Given the description of an element on the screen output the (x, y) to click on. 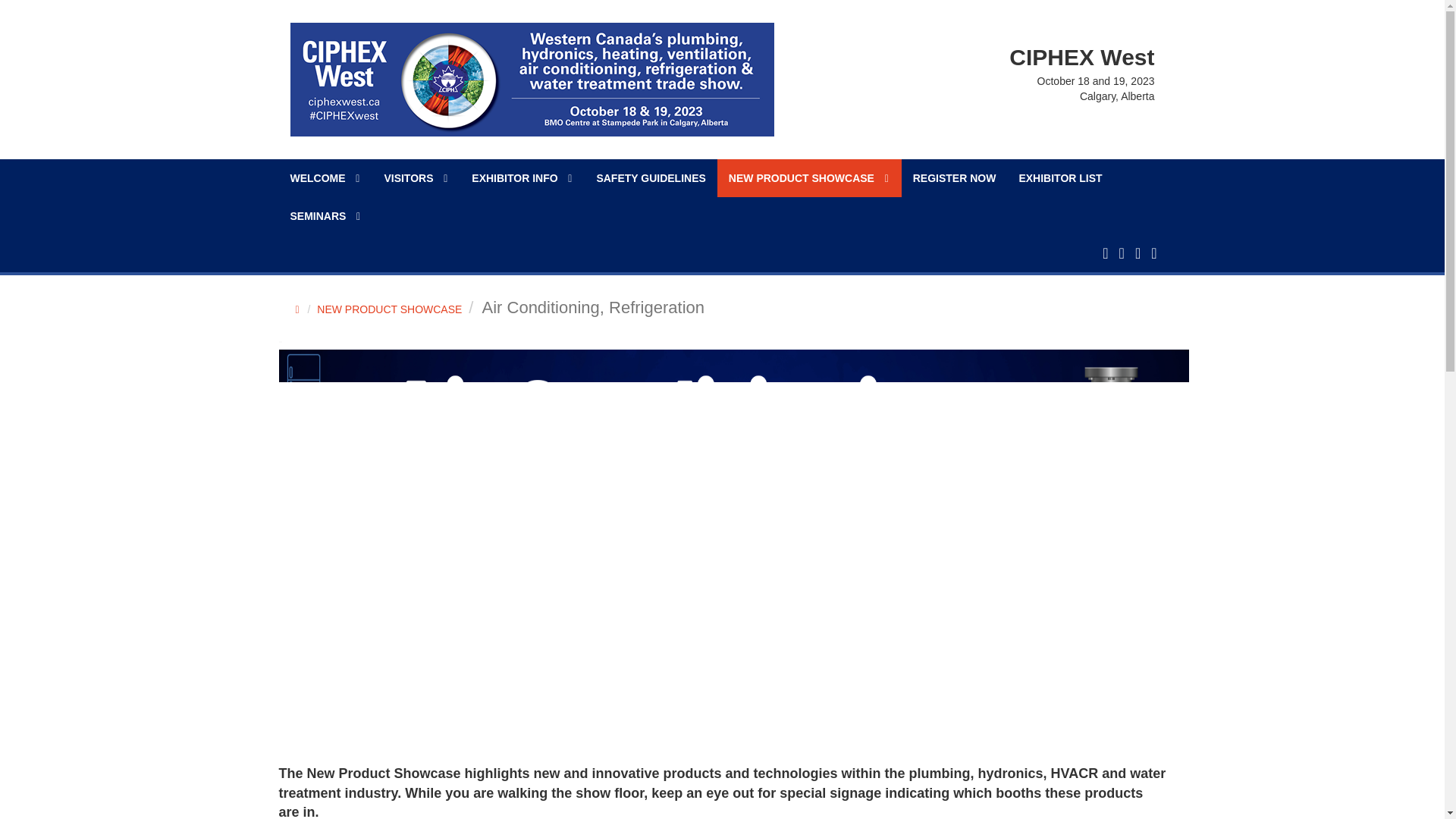
SAFETY GUIDELINES (650, 177)
WELCOME   (325, 177)
EXHIBITOR INFO   (522, 177)
VISITORS   (416, 177)
NEW PRODUCT SHOWCASE   (809, 177)
